Given the description of an element on the screen output the (x, y) to click on. 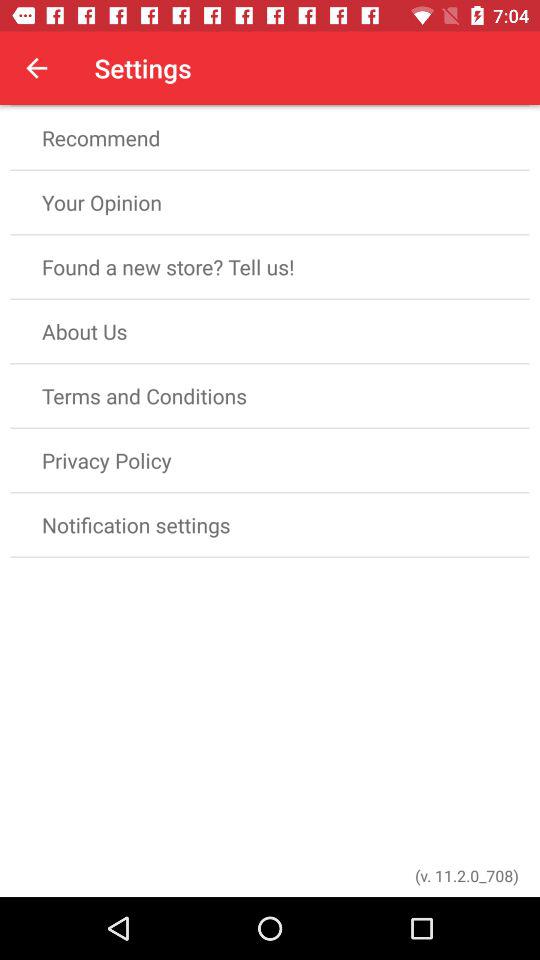
flip until notification settings icon (269, 524)
